Given the description of an element on the screen output the (x, y) to click on. 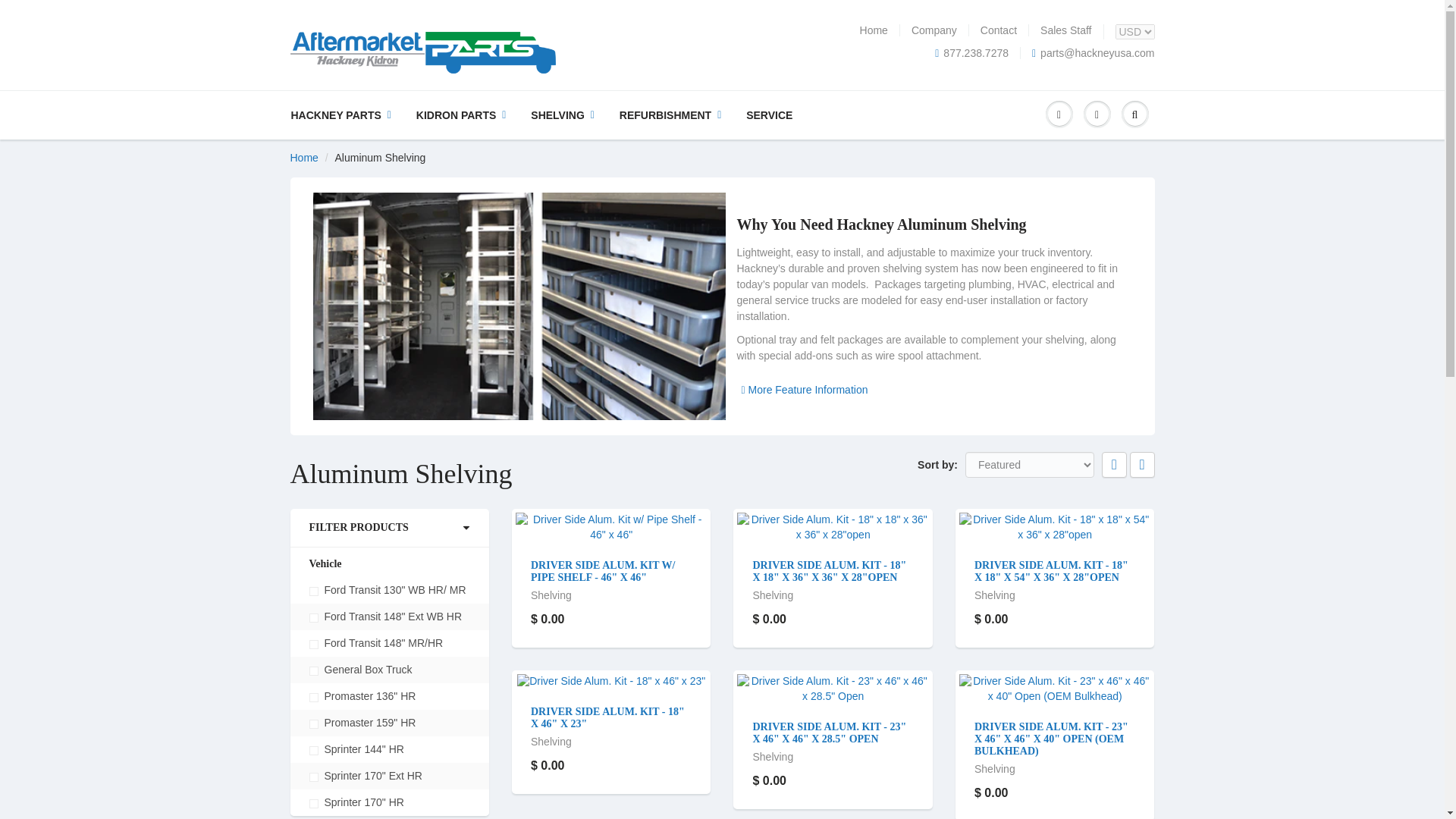
Company (933, 30)
Home (303, 157)
HACKNEY PARTS (347, 114)
KIDRON PARTS (461, 114)
Home (874, 30)
List View (1141, 464)
Sales Staff (1065, 30)
REFURBISHMENT (671, 114)
SHELVING (563, 114)
Contact (997, 30)
